Given the description of an element on the screen output the (x, y) to click on. 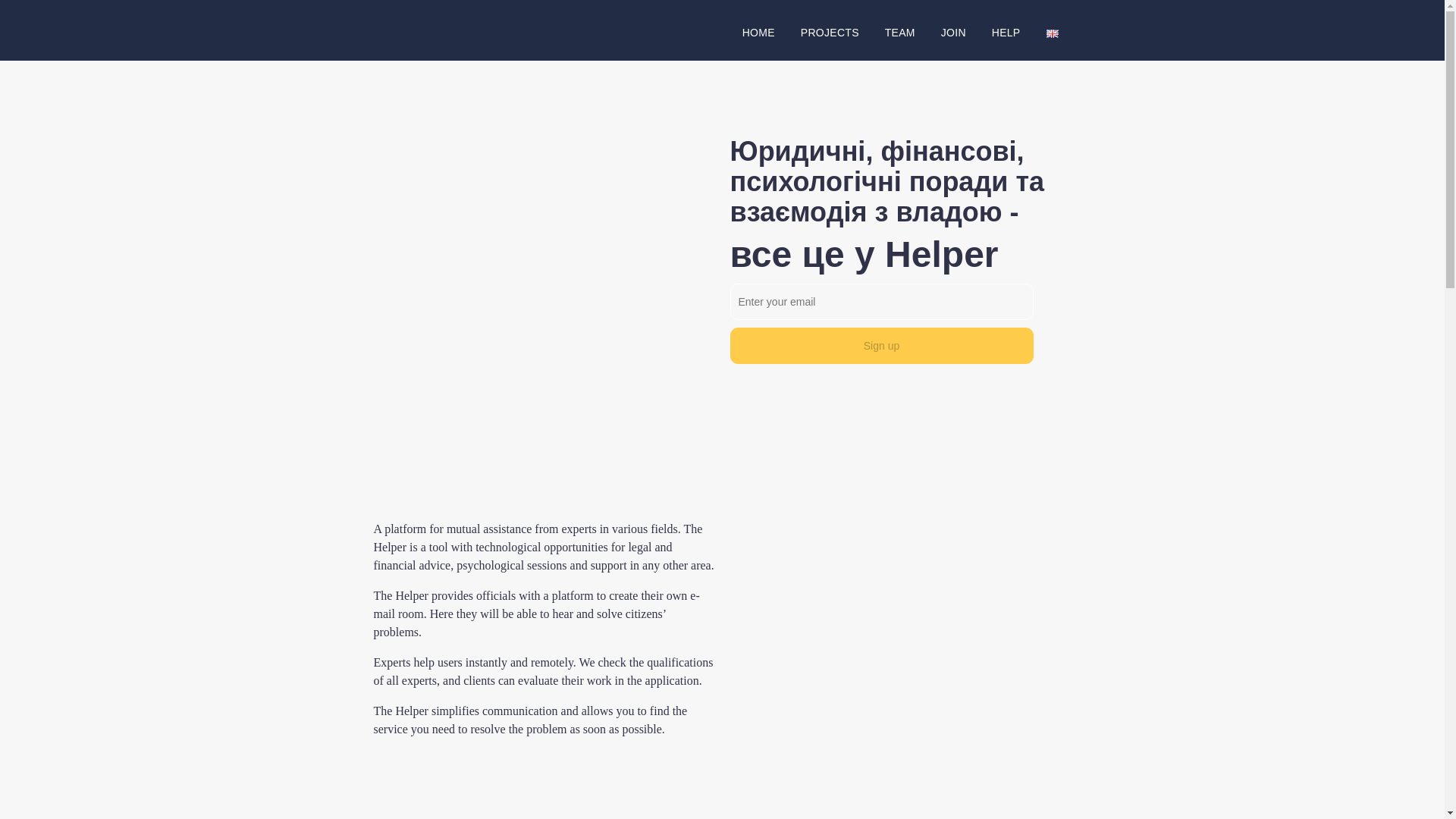
HELP (1005, 32)
TEAM (900, 32)
Sign up (880, 345)
En (1052, 33)
PROJECTS (829, 32)
HOME (758, 32)
JOIN (953, 32)
Sign up (880, 345)
